Given the description of an element on the screen output the (x, y) to click on. 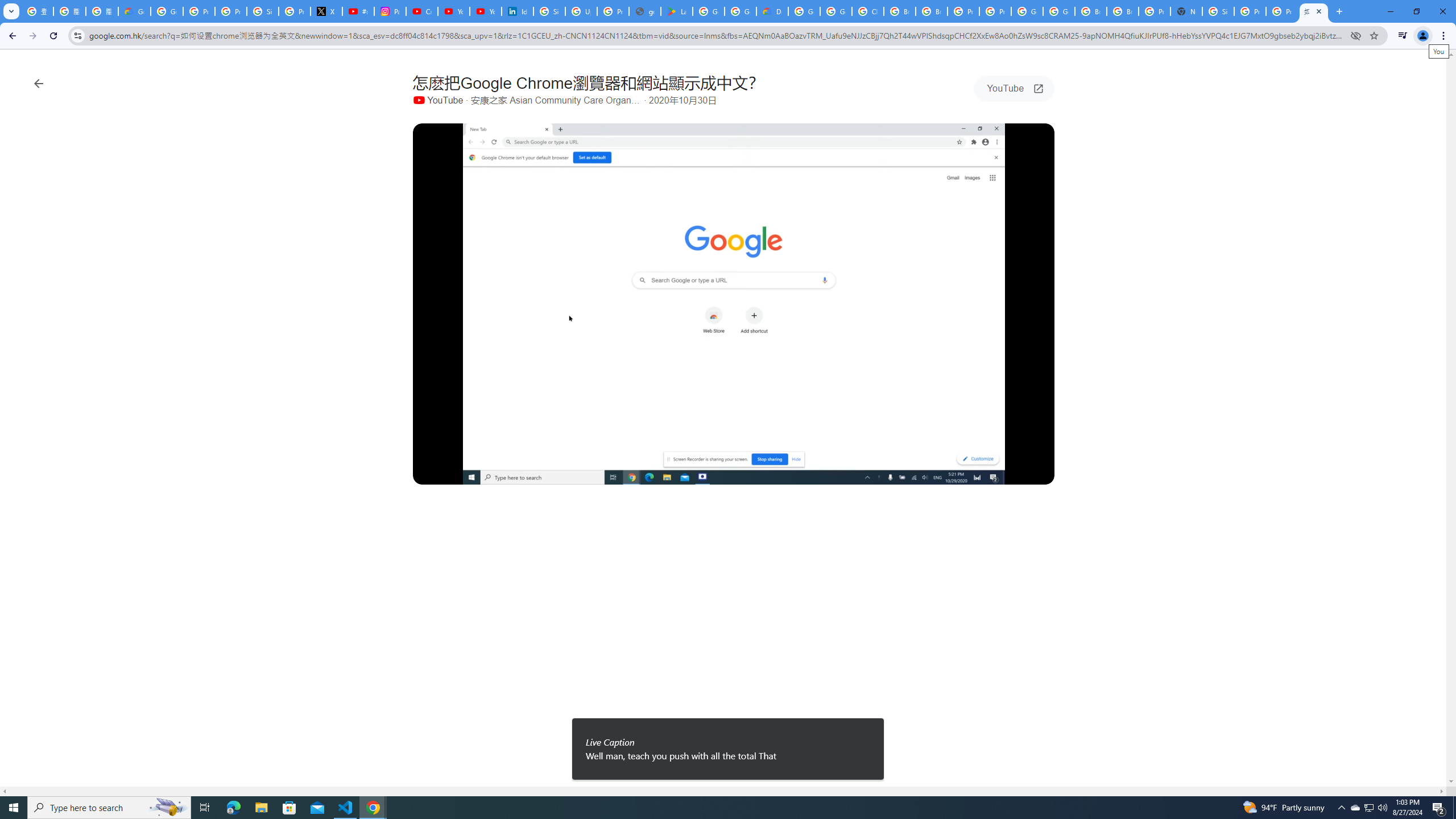
You (1422, 35)
Reload (52, 35)
Full screen (f) (1036, 472)
Third-party cookies blocked (1355, 35)
Chrome (1445, 35)
YouTube Culture & Trends - YouTube Top 10, 2021 (485, 11)
Restore (1416, 11)
Seek slider (733, 460)
Privacy Help Center - Policies Help (230, 11)
Google Workspace - Specific Terms (740, 11)
Google Cloud Platform (804, 11)
